Given the description of an element on the screen output the (x, y) to click on. 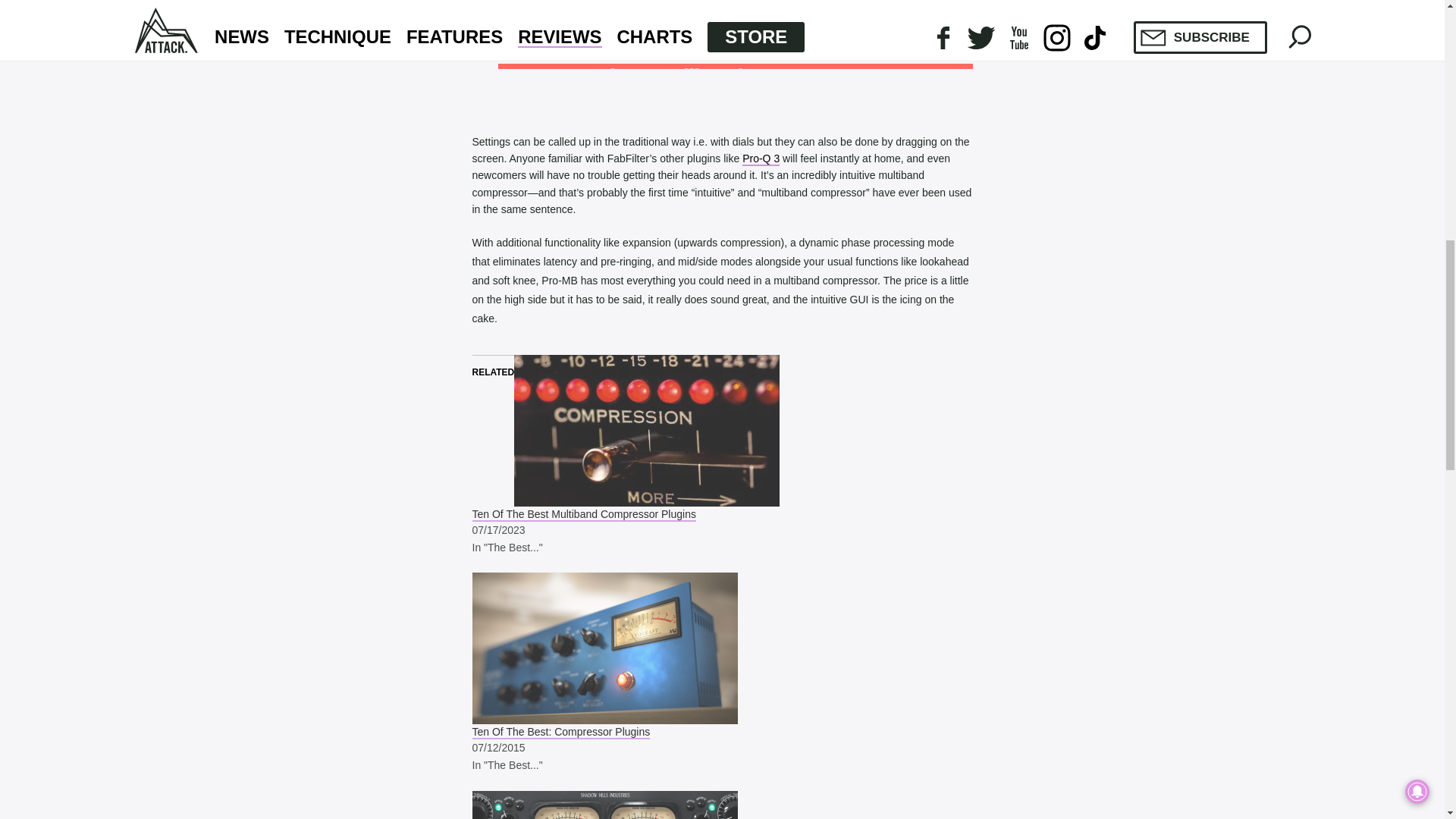
Ten Of The Best: Compressor Plugins (721, 647)
Ten Of The Best: Compressor Plugins (560, 732)
Ten Of The Best Multiband Compressor Plugins (721, 430)
Ten Of The Best Multiband Compressor Plugins (583, 514)
Rethinking Compression: 3 Techniques You Should Be Using (721, 805)
